Given the description of an element on the screen output the (x, y) to click on. 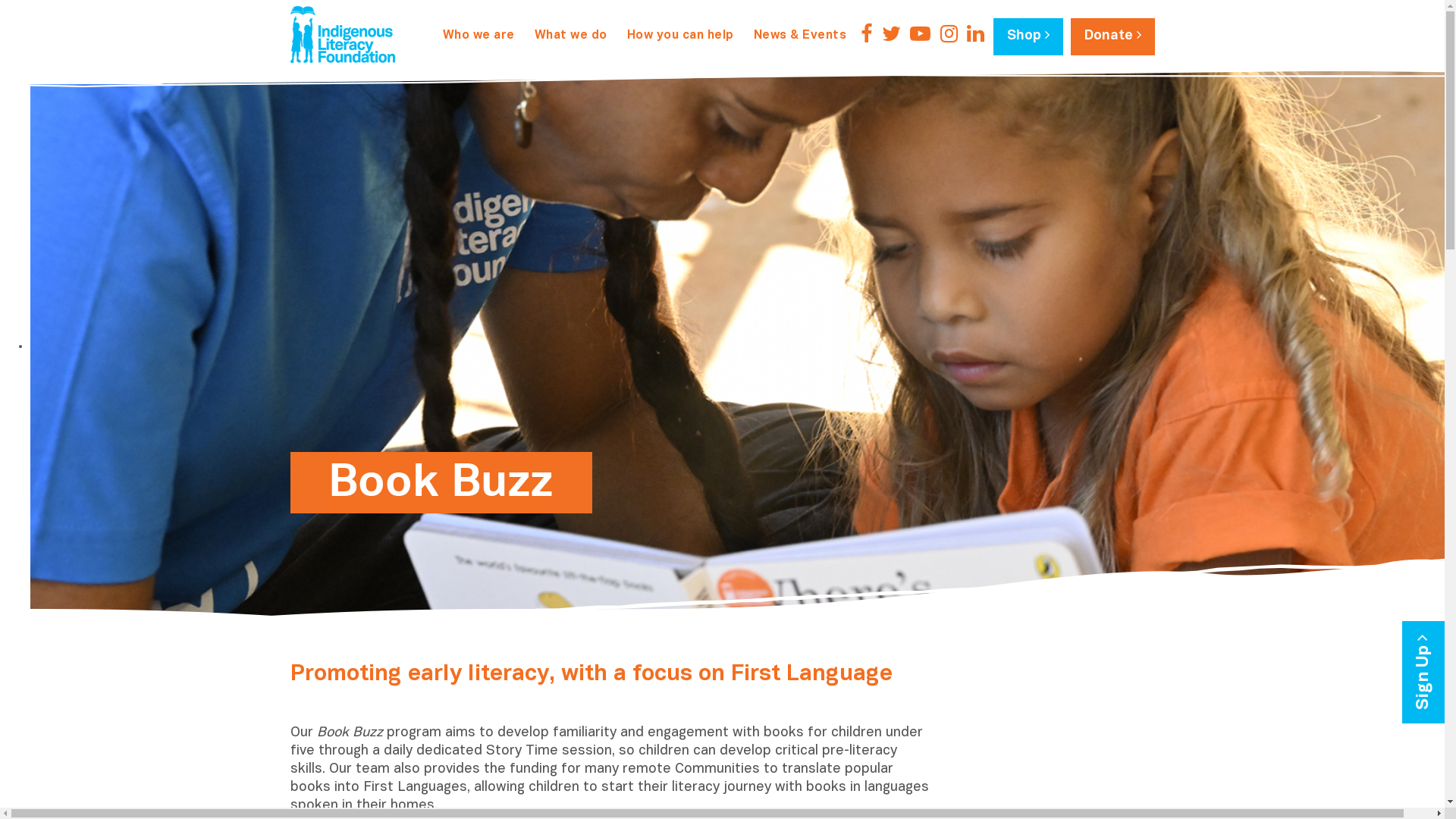
News & Events Element type: text (799, 35)
Donate Element type: text (1112, 36)
Who we are Element type: text (478, 35)
How you can help Element type: text (680, 35)
What we do Element type: text (570, 35)
Shop Element type: text (1028, 36)
